Given the description of an element on the screen output the (x, y) to click on. 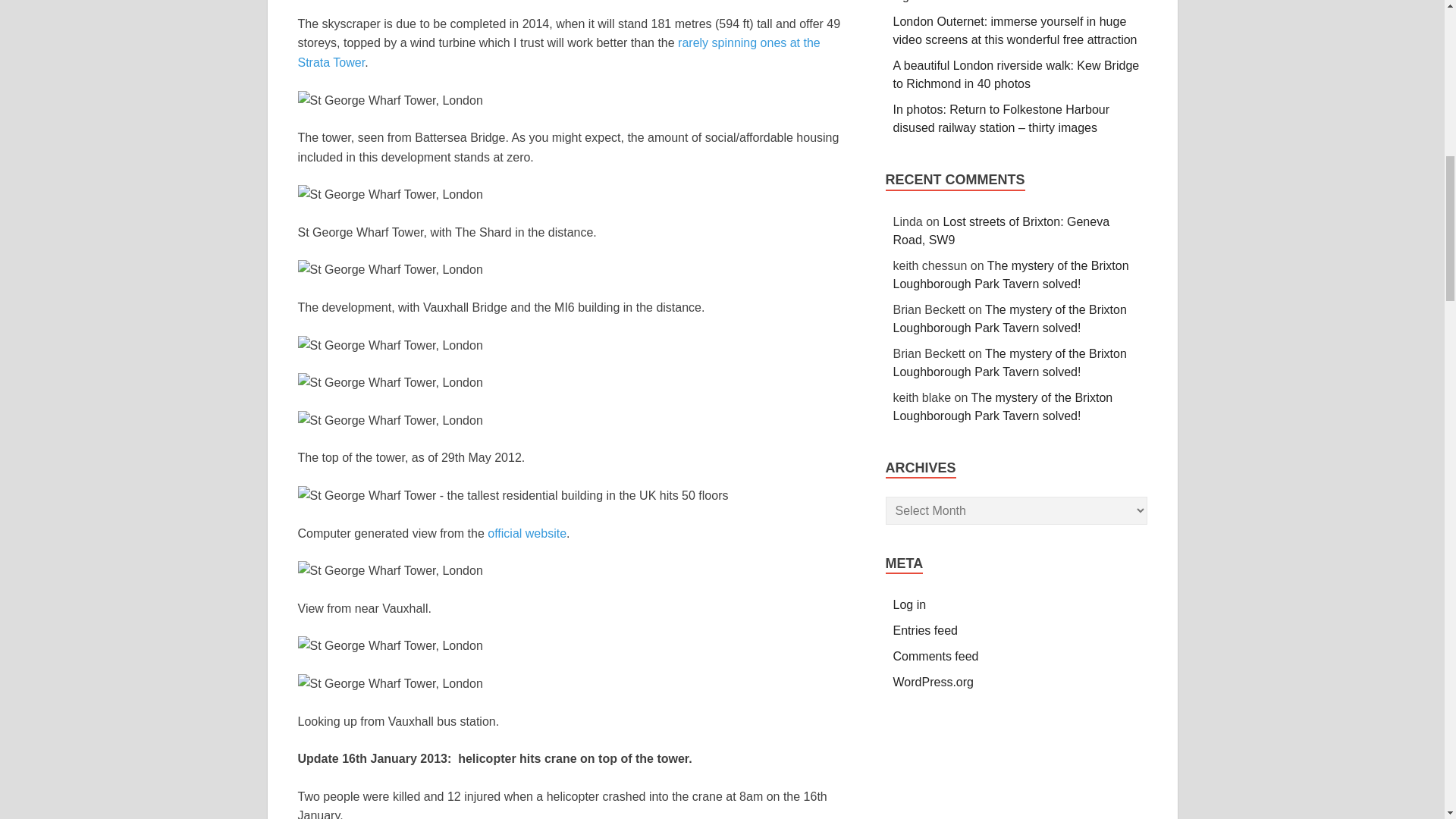
St George Wharf Tower, London (389, 383)
official website (526, 533)
St George Wharf Tower, London (389, 270)
St George Wharf Tower, London (389, 420)
St George Wharf Tower, London (389, 570)
St George Wharf Tower, London (389, 100)
rarely spinning ones at the Strata Tower (558, 52)
St George Wharf Tower, London (389, 683)
St George Wharf Tower, London (389, 194)
St George Wharf Tower, London (389, 345)
